Given the description of an element on the screen output the (x, y) to click on. 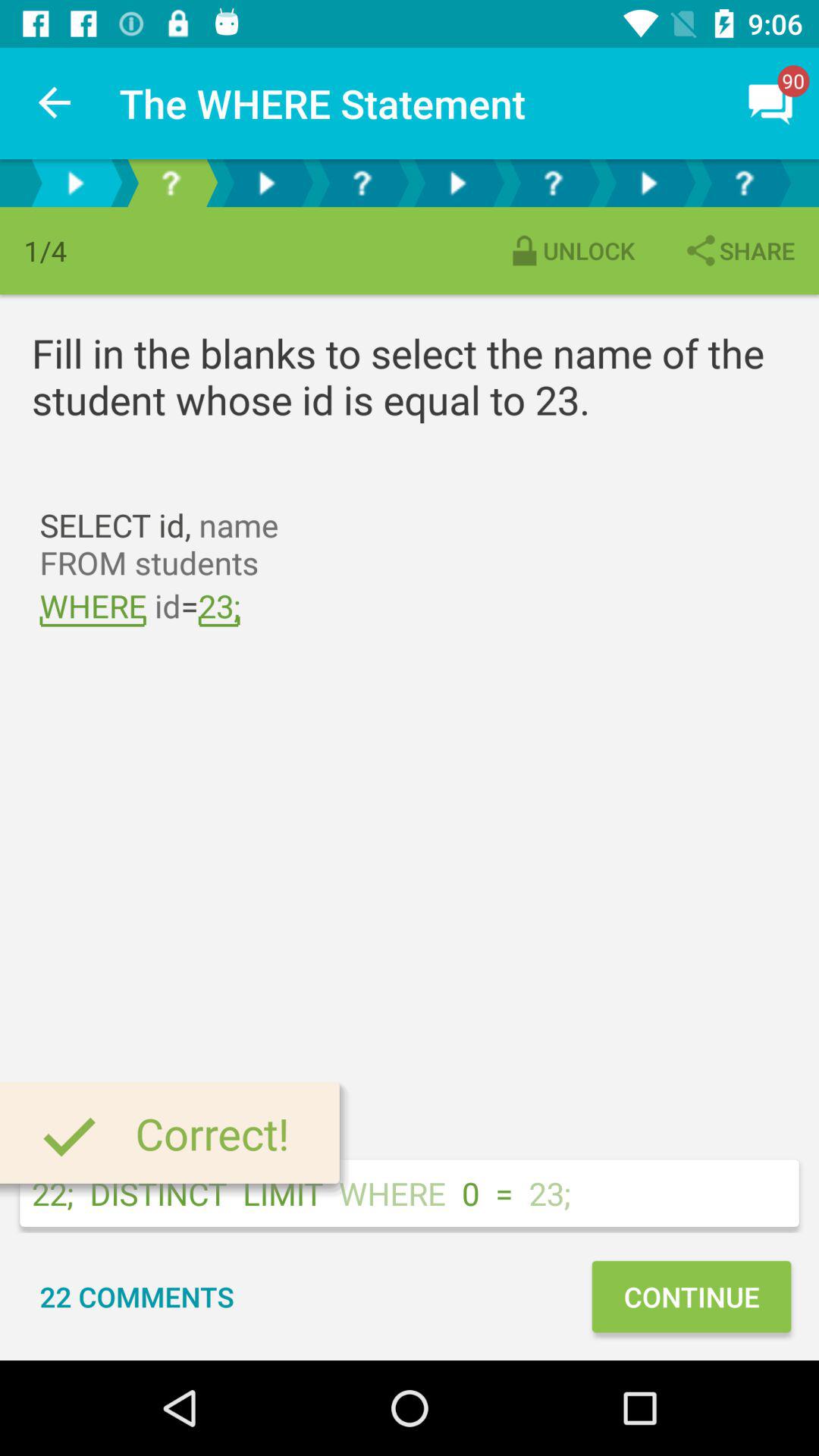
view next question (648, 183)
